Given the description of an element on the screen output the (x, y) to click on. 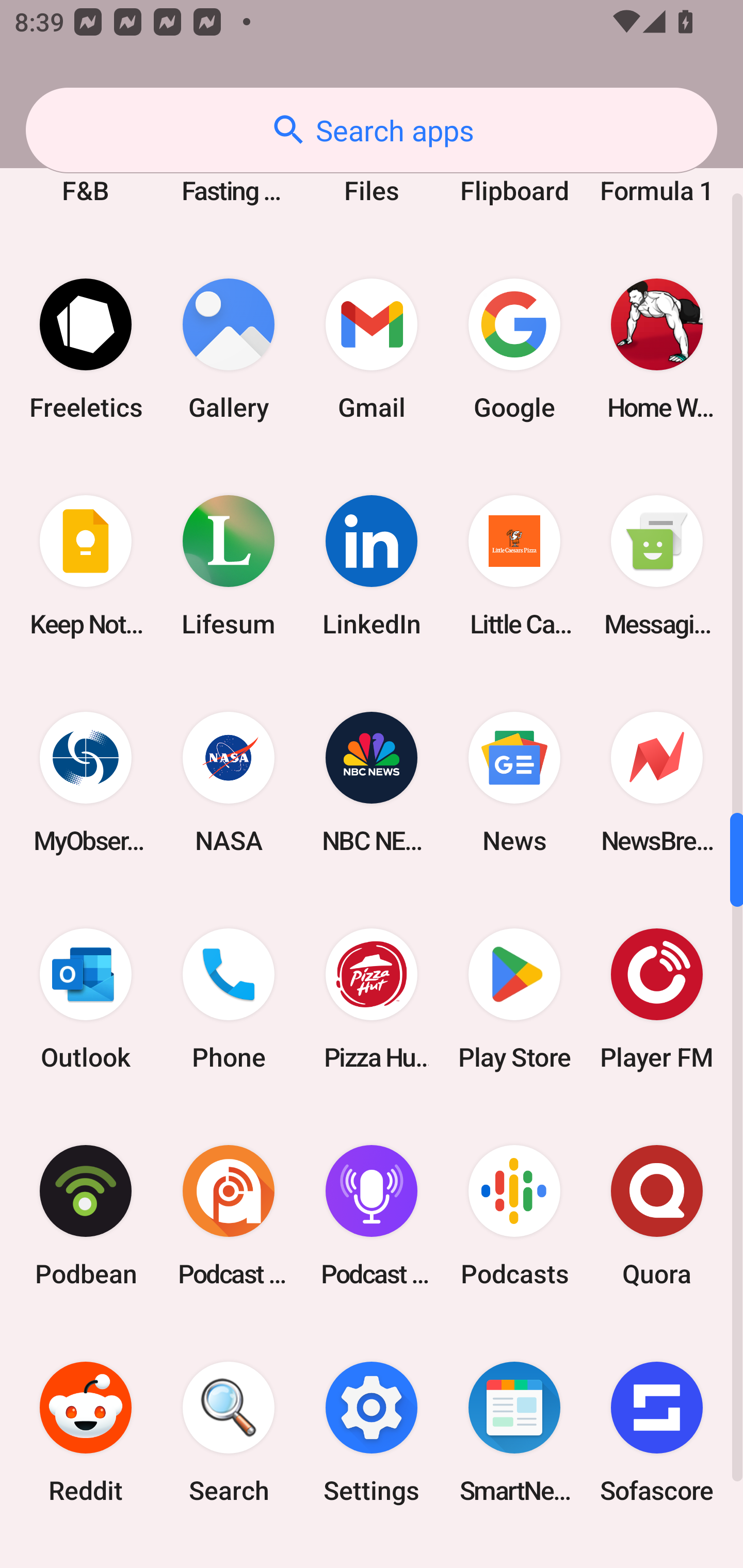
  Search apps (371, 130)
Freeletics (85, 349)
Gallery (228, 349)
Gmail (371, 349)
Google (514, 349)
Home Workout (656, 349)
Keep Notes (85, 565)
Lifesum (228, 565)
LinkedIn (371, 565)
Little Caesars Pizza (514, 565)
Messaging (656, 565)
MyObservatory (85, 782)
NASA (228, 782)
NBC NEWS (371, 782)
News (514, 782)
NewsBreak (656, 782)
Outlook (85, 998)
Phone (228, 998)
Pizza Hut HK & Macau (371, 998)
Play Store (514, 998)
Player FM (656, 998)
Podbean (85, 1215)
Podcast Addict (228, 1215)
Podcast Player (371, 1215)
Podcasts (514, 1215)
Quora (656, 1215)
Reddit (85, 1432)
Search (228, 1432)
Settings (371, 1432)
SmartNews (514, 1432)
Sofascore (656, 1432)
